Given the description of an element on the screen output the (x, y) to click on. 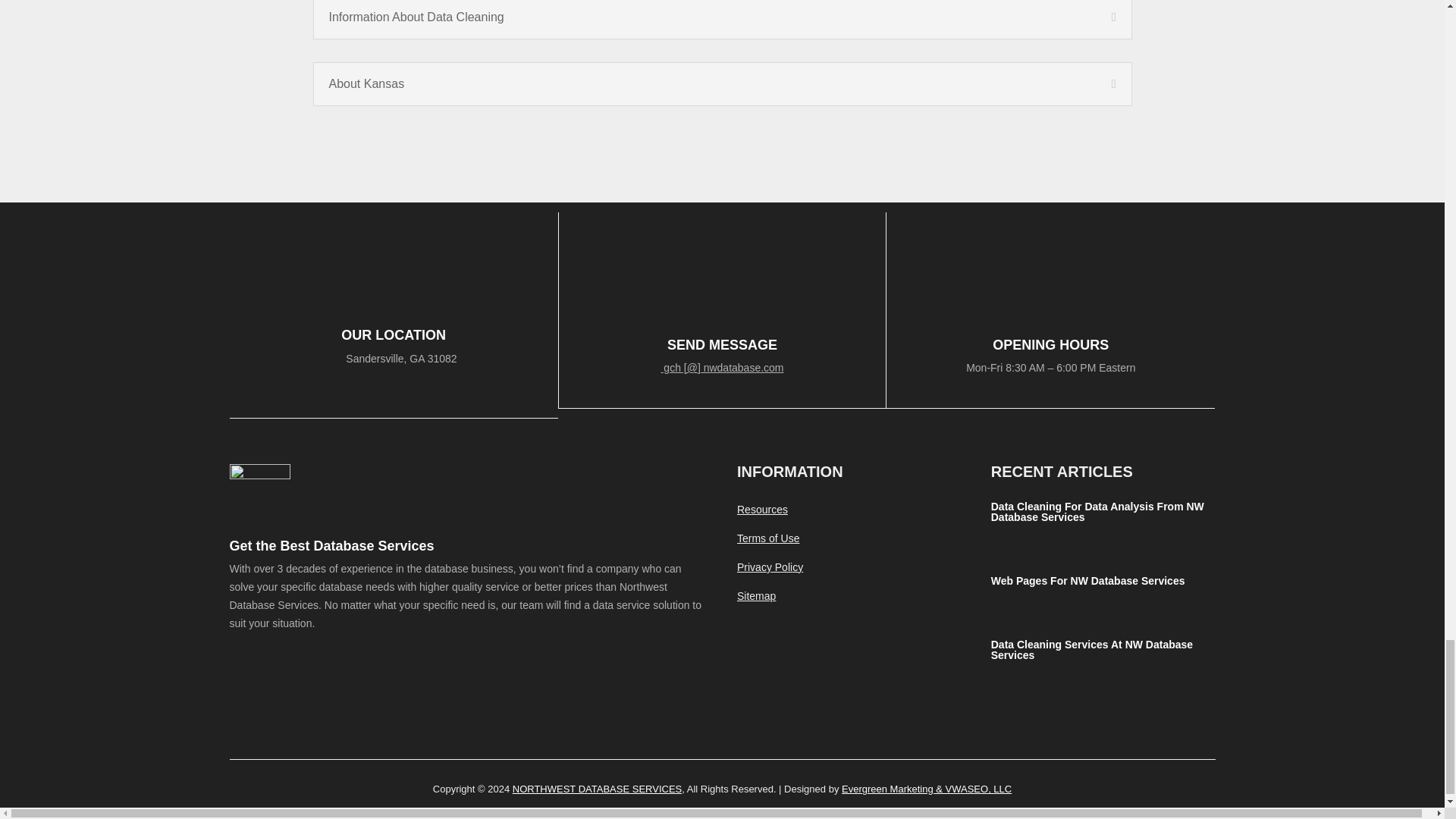
Privacy Policy (769, 567)
NORTHWEST DATABASE SERVICES (596, 788)
logo-80x80 (258, 494)
Terms of Use (767, 538)
Sitemap (756, 595)
Terms of Use NW Database (767, 538)
Web Pages For NW Database Services (1088, 580)
Northwest Database Services (596, 788)
Data Cleaning Services At NW Database Services (1091, 649)
Privacy Policy NW Database (769, 567)
